Given the description of an element on the screen output the (x, y) to click on. 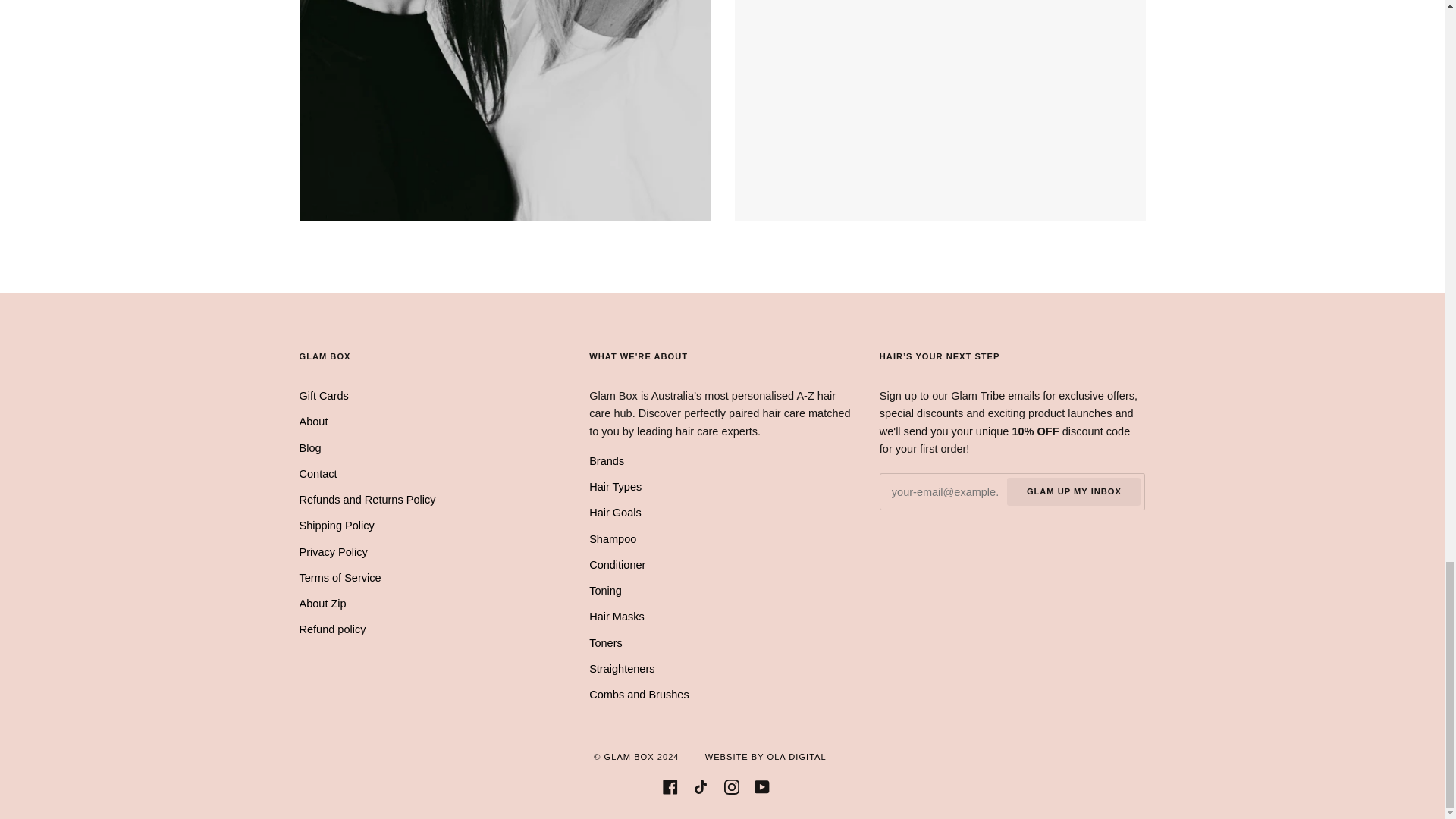
Instagram (731, 786)
Tiktok (700, 786)
YouTube (762, 786)
Facebook (670, 786)
